Given the description of an element on the screen output the (x, y) to click on. 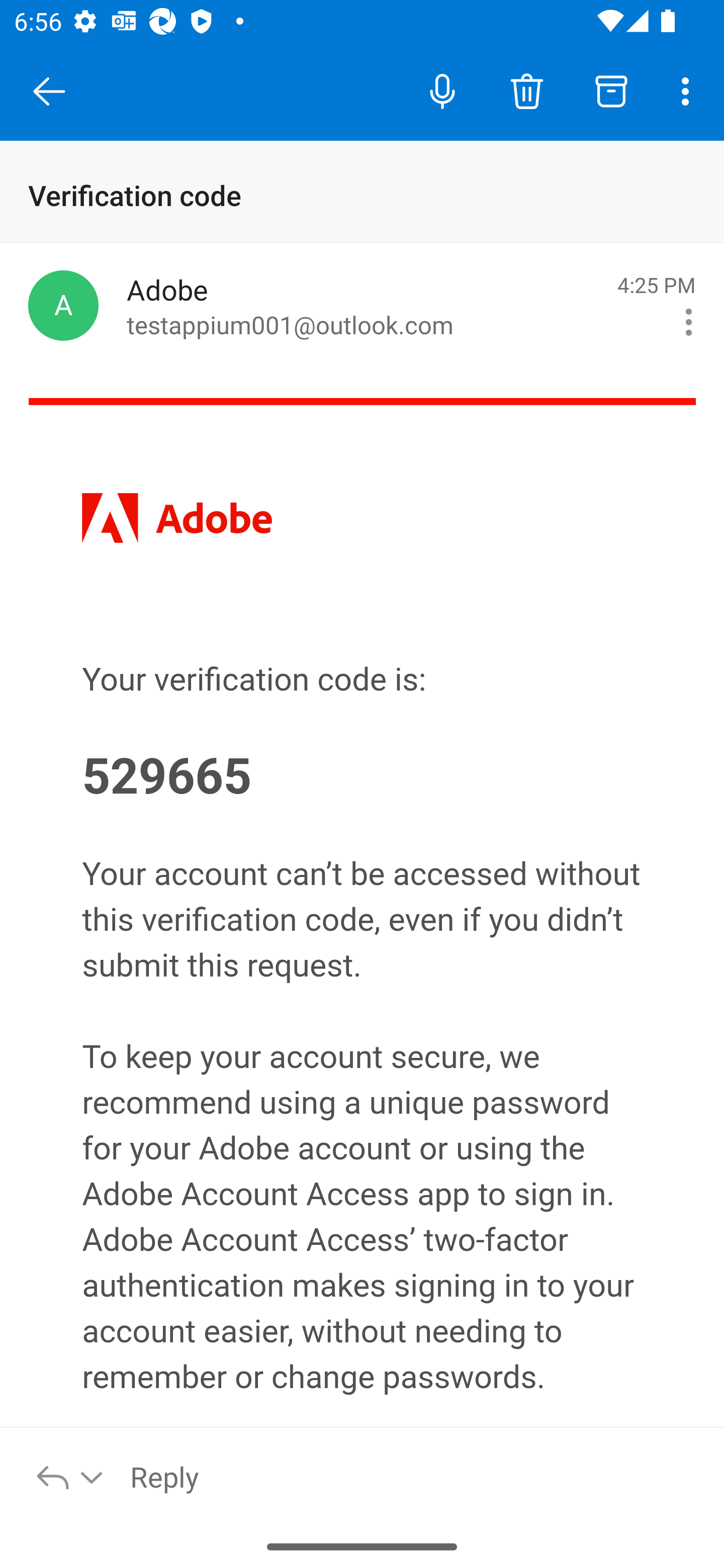
Close (49, 91)
Delete (526, 90)
Archive (611, 90)
More options (688, 90)
Adobe, message@adobe.com (63, 304)
Adobe
to testappium001@outlook.com (364, 305)
Message actions (688, 322)
Reply options (70, 1475)
Reply (416, 1475)
